Given the description of an element on the screen output the (x, y) to click on. 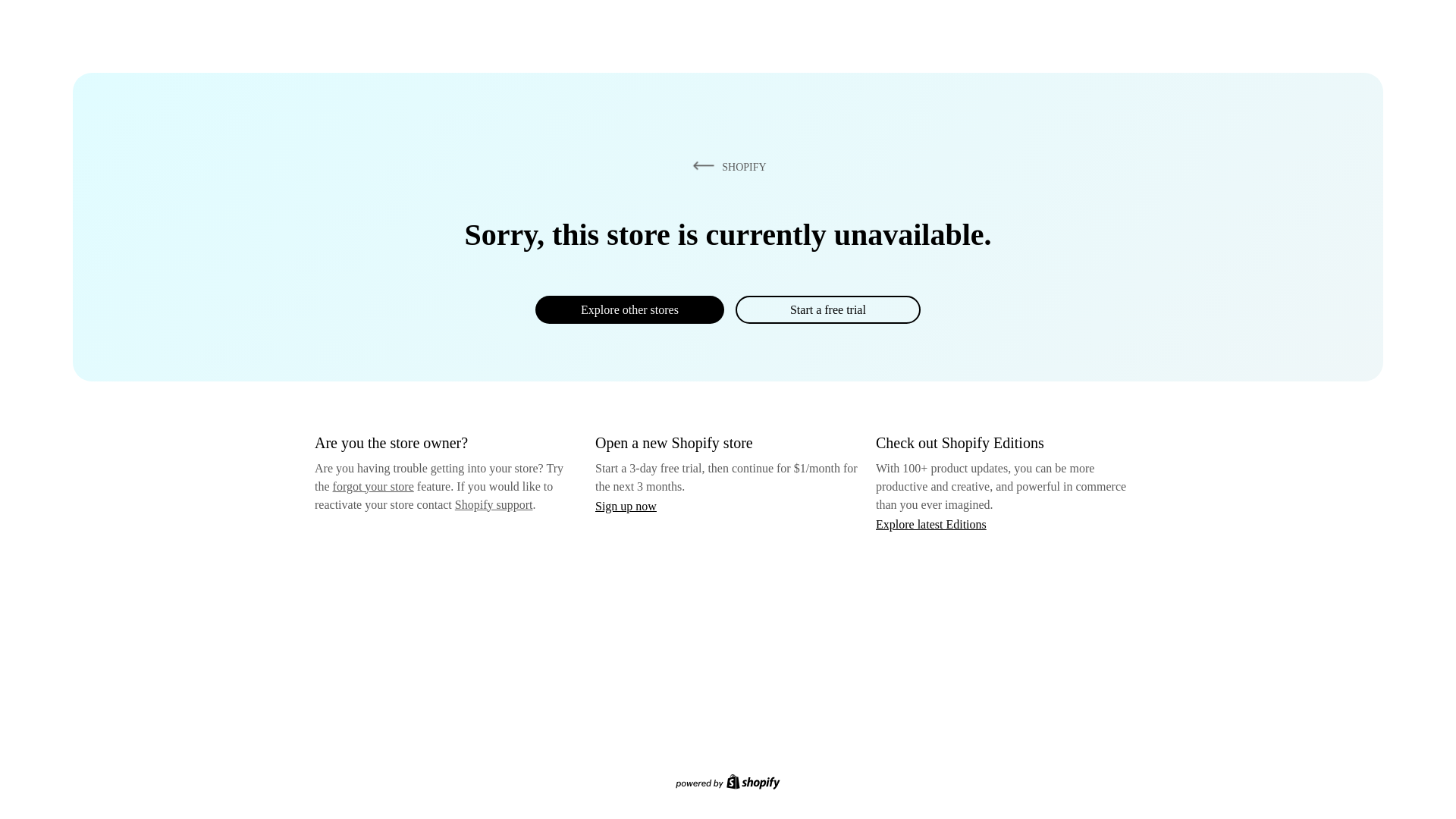
forgot your store (373, 486)
Start a free trial (827, 309)
Sign up now (625, 505)
SHOPIFY (726, 166)
Explore latest Editions (931, 523)
Shopify support (493, 504)
Explore other stores (629, 309)
